Given the description of an element on the screen output the (x, y) to click on. 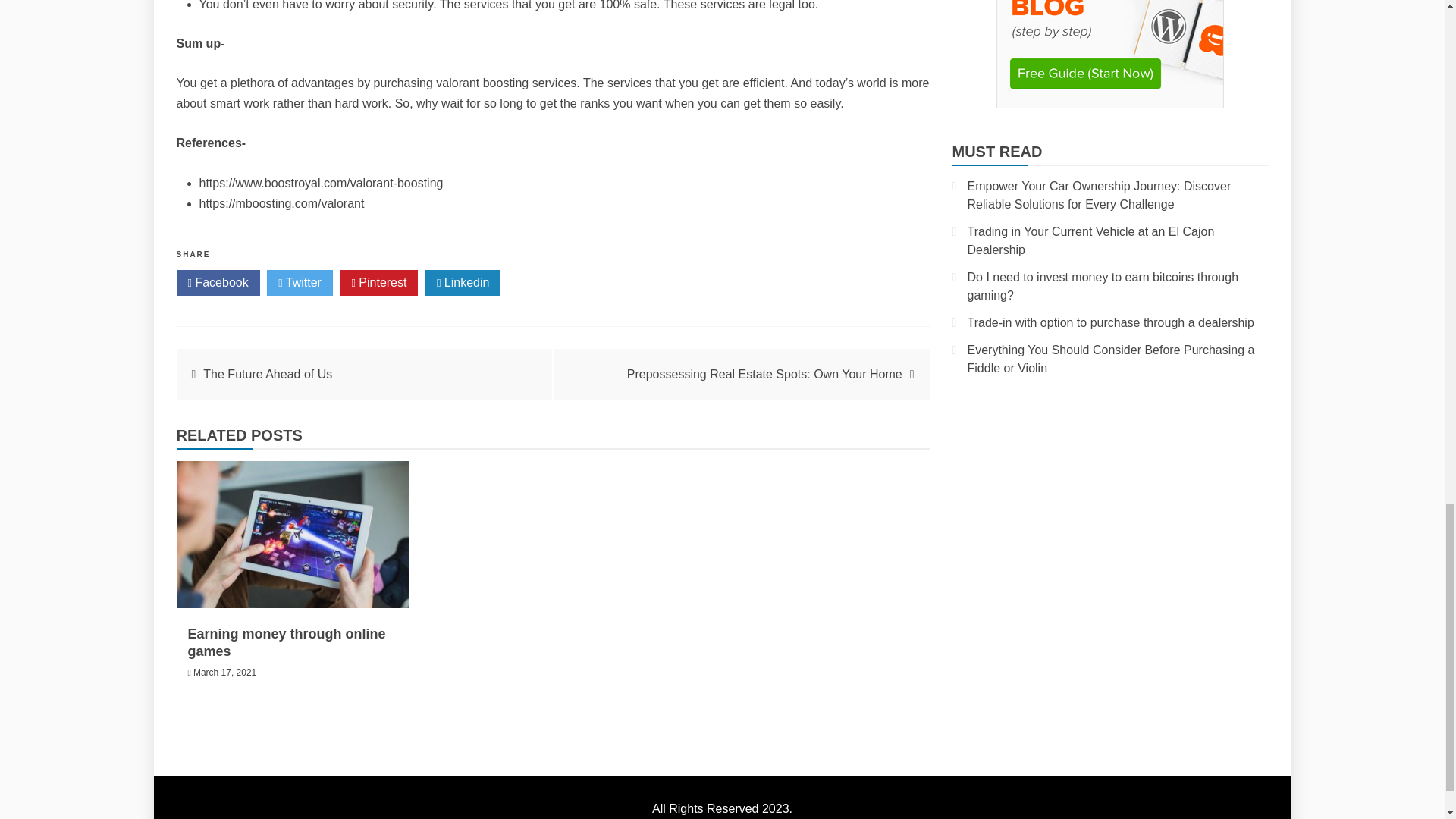
Facebook (217, 282)
Twitter (299, 282)
Prepossessing Real Estate Spots: Own Your Home (764, 373)
Pinterest (378, 282)
The Future Ahead of Us (267, 373)
Earning money through online games (286, 642)
March 17, 2021 (224, 672)
Linkedin (462, 282)
